Given the description of an element on the screen output the (x, y) to click on. 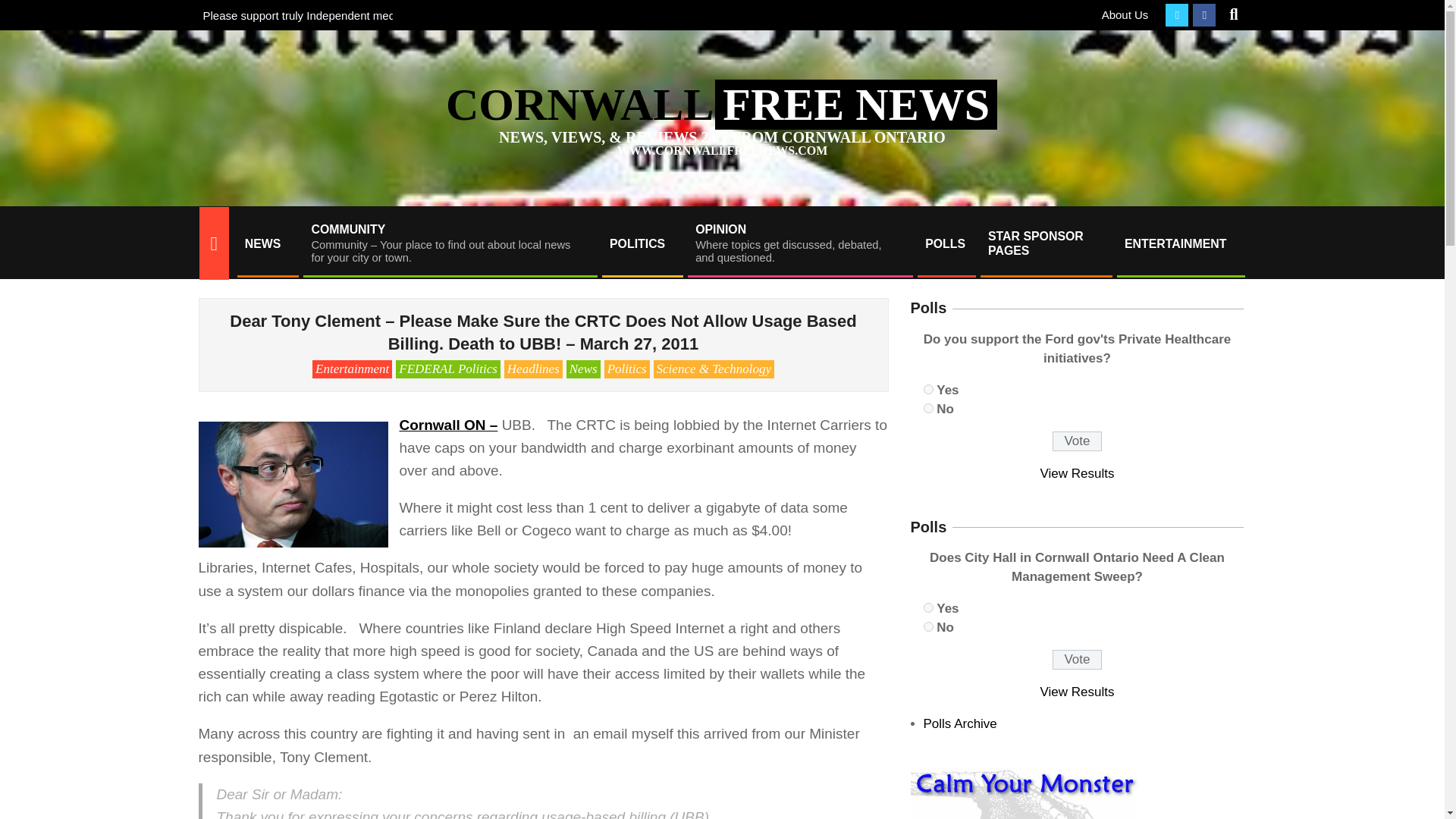
View Results Of This Poll (1078, 473)
POLITICS (641, 243)
NEWS (265, 243)
1776 (928, 388)
   Vote    (1076, 659)
1777 (928, 408)
About Us (1125, 14)
ENTERTAINMENT (1179, 243)
   Vote    (799, 243)
